Given the description of an element on the screen output the (x, y) to click on. 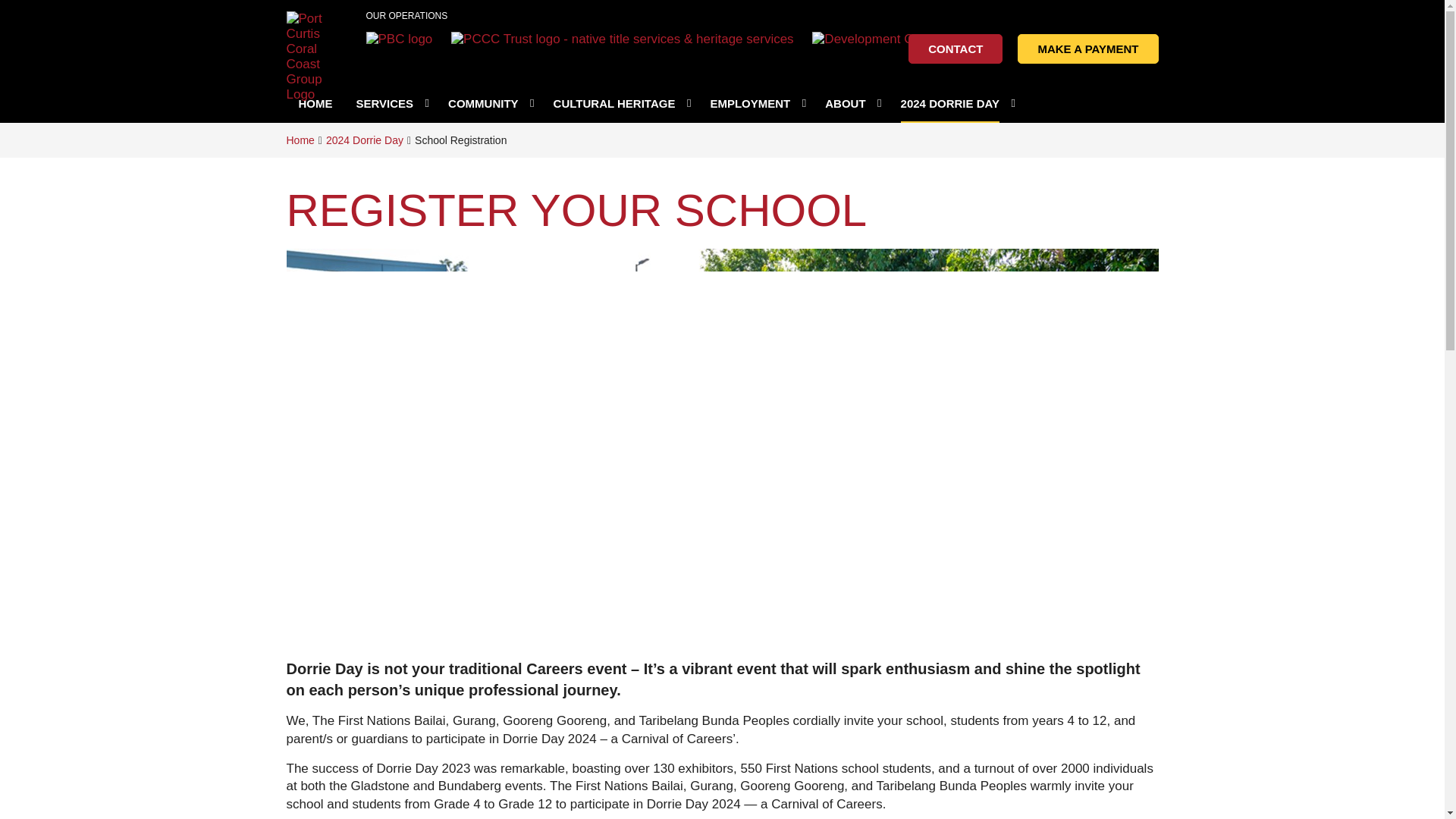
ABOUT (850, 103)
CONTACT (955, 48)
HOME (315, 103)
Home (300, 140)
CULTURAL HERITAGE (619, 103)
SERVICES (389, 103)
MAKE A PAYMENT (1087, 48)
2024 DORRIE DAY (956, 103)
EMPLOYMENT (755, 103)
COMMUNITY (488, 103)
